Given the description of an element on the screen output the (x, y) to click on. 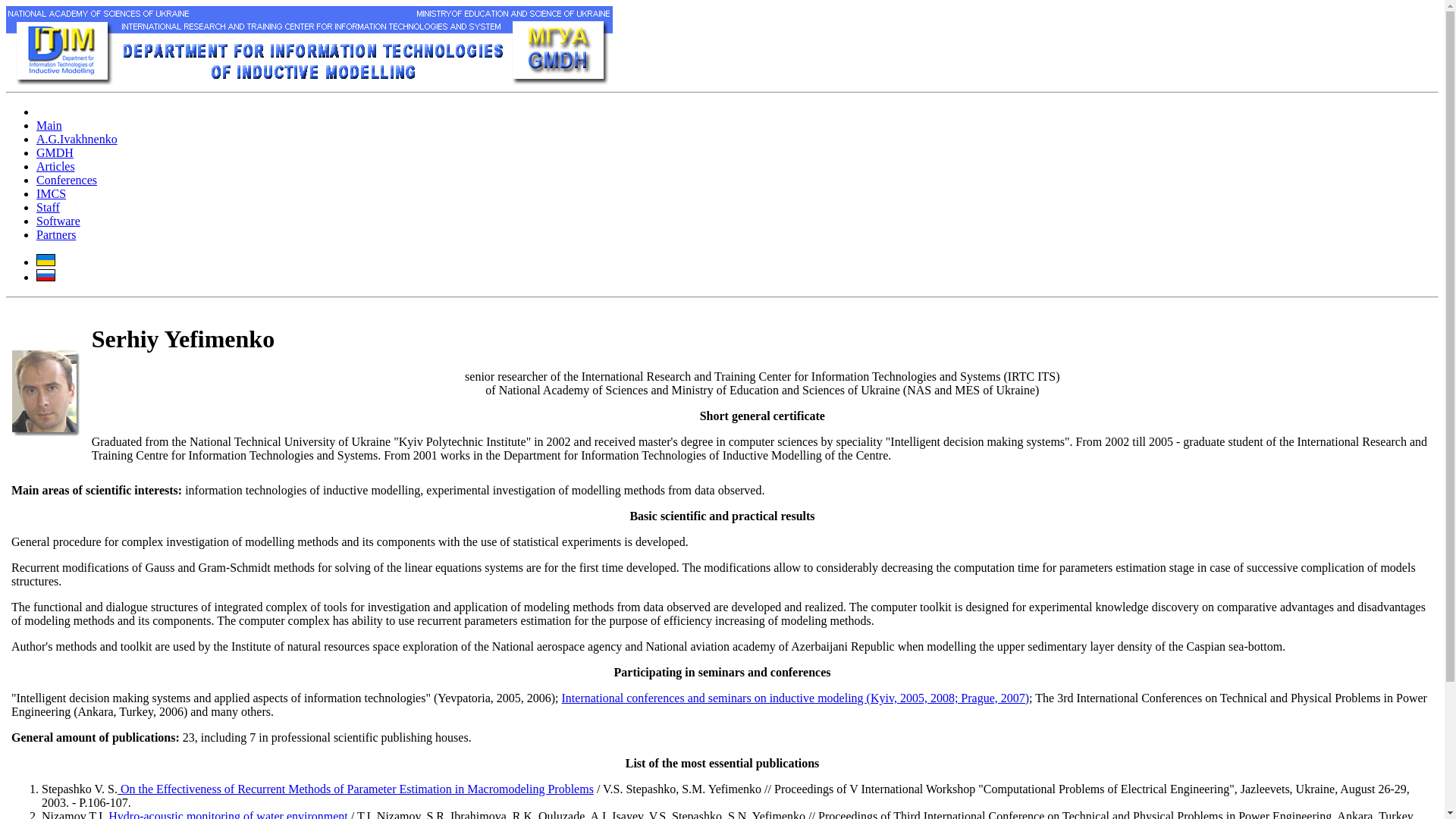
Conferences (66, 179)
IMCS (50, 193)
Main (49, 124)
Hydro-acoustic monitoring of water environment (225, 814)
A.G.Ivakhnenko (76, 138)
Staff (47, 206)
Articles (55, 165)
GMDH (55, 152)
Partners (55, 234)
Software (58, 220)
